Given the description of an element on the screen output the (x, y) to click on. 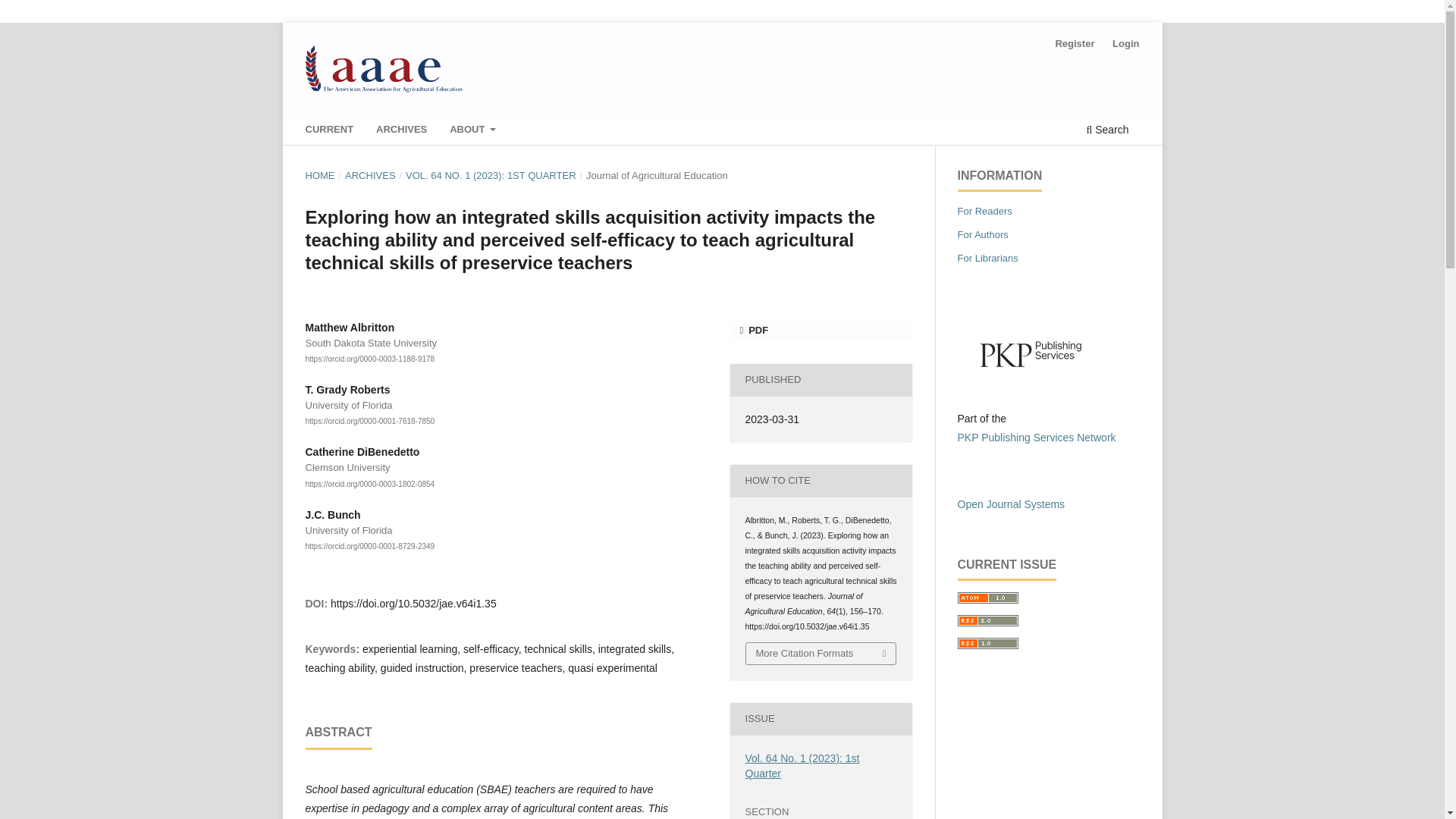
ARCHIVES (370, 175)
CURRENT (328, 130)
Login (1126, 43)
More Citation Formats (820, 653)
HOME (319, 175)
PDF (820, 330)
ARCHIVES (401, 130)
ABOUT (472, 130)
Register (1074, 43)
Search (1107, 130)
